Given the description of an element on the screen output the (x, y) to click on. 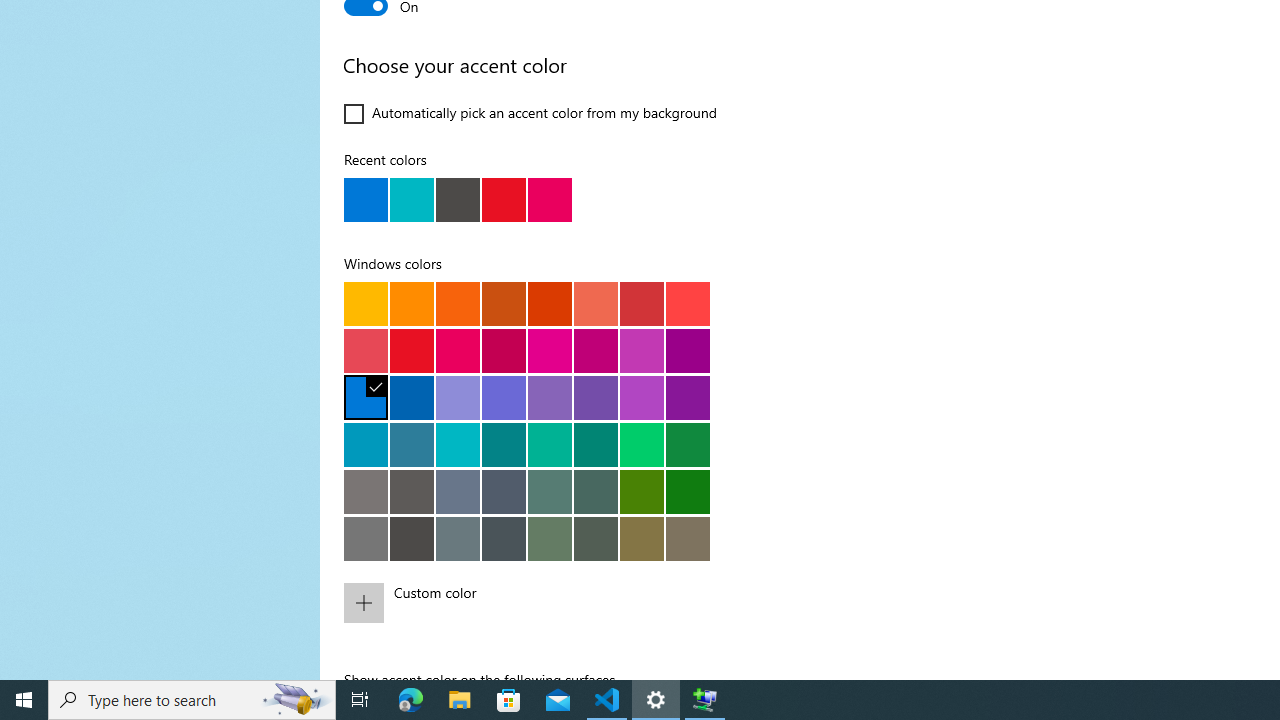
Purple shadow (458, 397)
Brick red (641, 303)
Purple shadow dark (504, 397)
Mod red (687, 303)
Steel blue (458, 491)
Iris Spring (595, 397)
Mint dark (595, 444)
Gray (365, 491)
Camouflage desert (641, 538)
Metal blue (504, 491)
Orchid (687, 350)
